Given the description of an element on the screen output the (x, y) to click on. 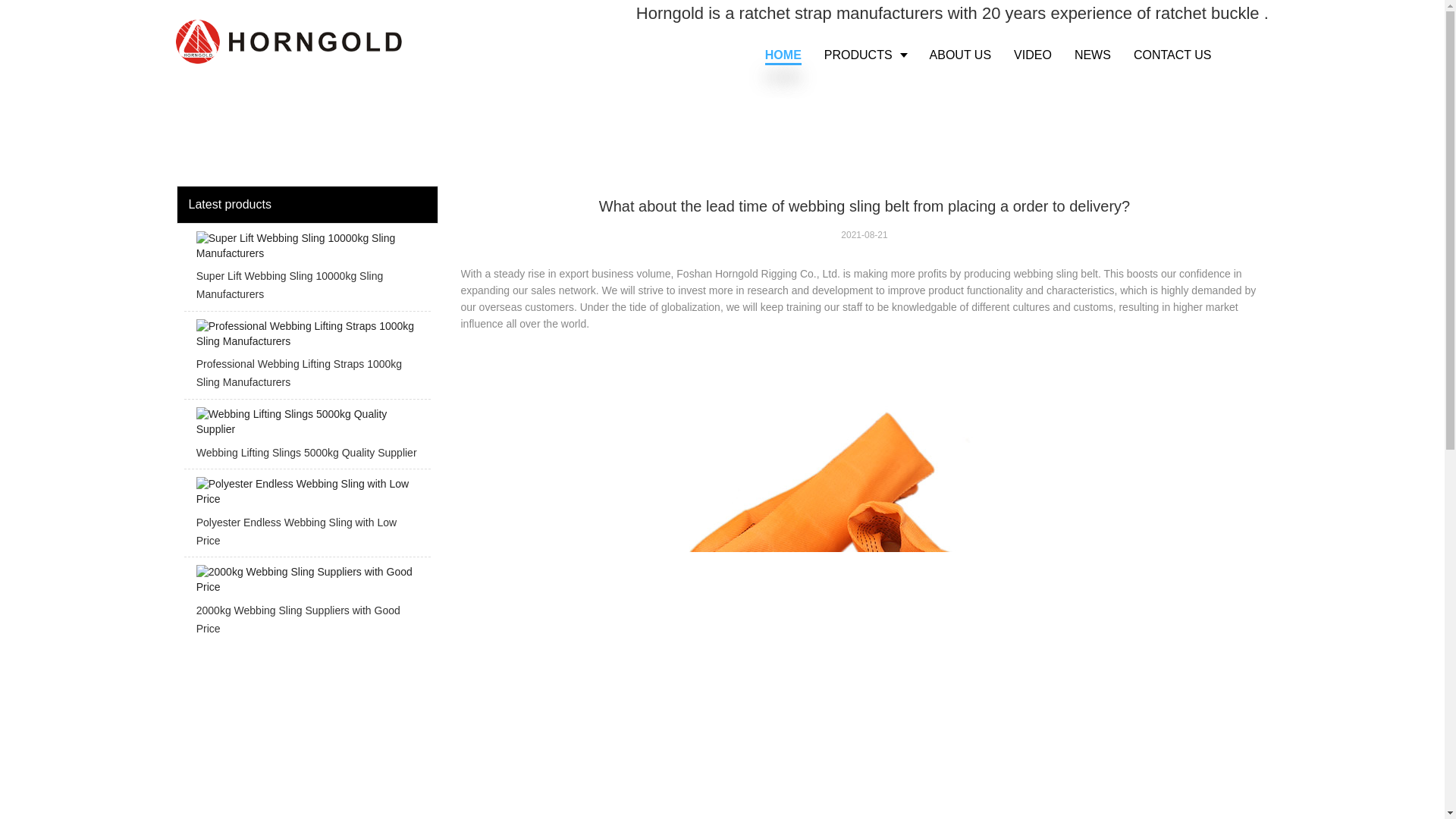
Polyester Endless Webbing Sling with Low Price (306, 516)
CONTACT US (1172, 55)
Super Lift Webbing Sling 10000kg Sling Manufacturers (306, 270)
HOME (783, 55)
NEWS (1092, 55)
Webbing Lifting Slings 5000kg Quality Supplier (306, 437)
ABOUT US (960, 55)
PRODUCTS (865, 55)
VIDEO (1032, 55)
